Given the description of an element on the screen output the (x, y) to click on. 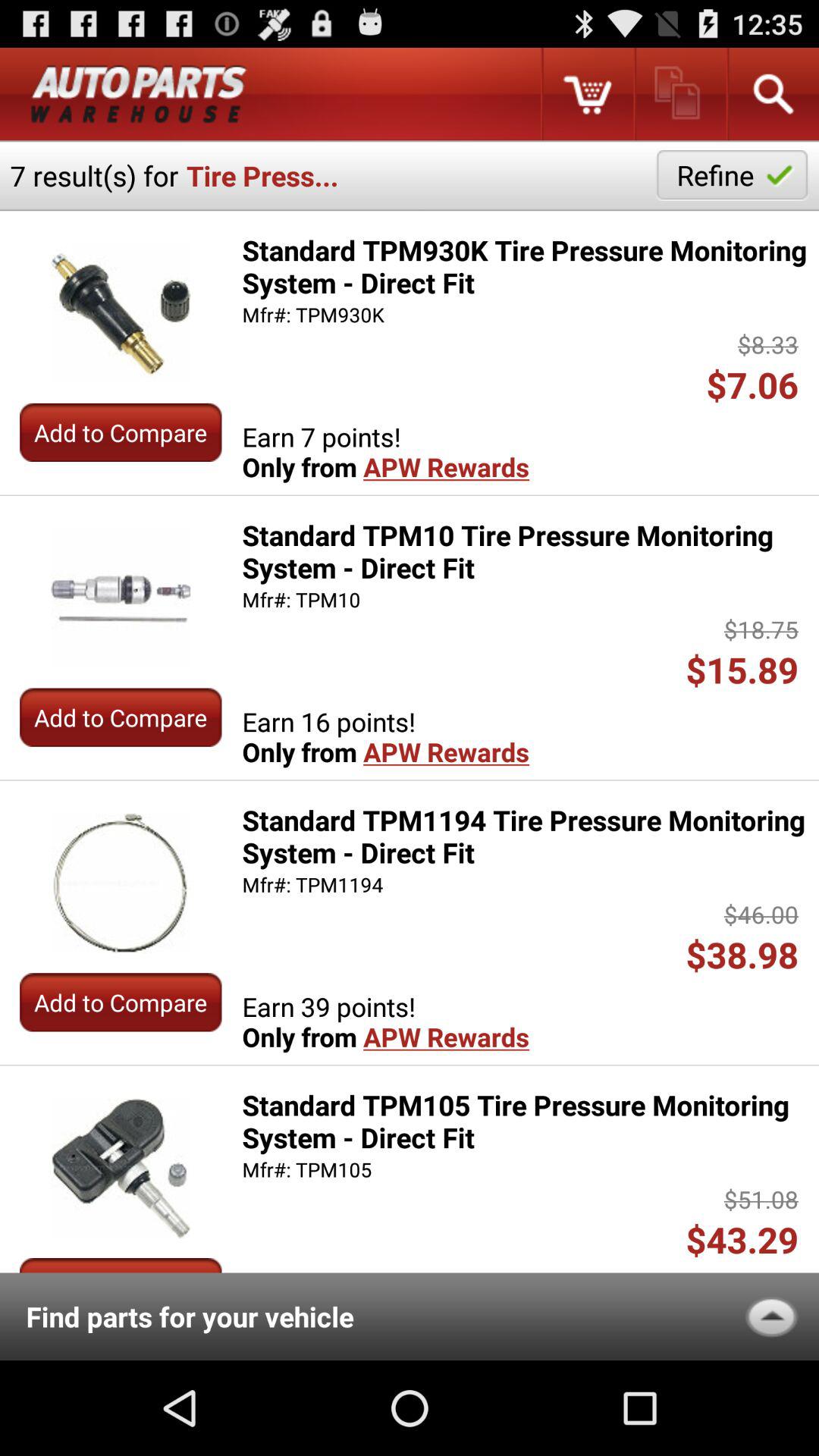
searching the process (772, 93)
